Given the description of an element on the screen output the (x, y) to click on. 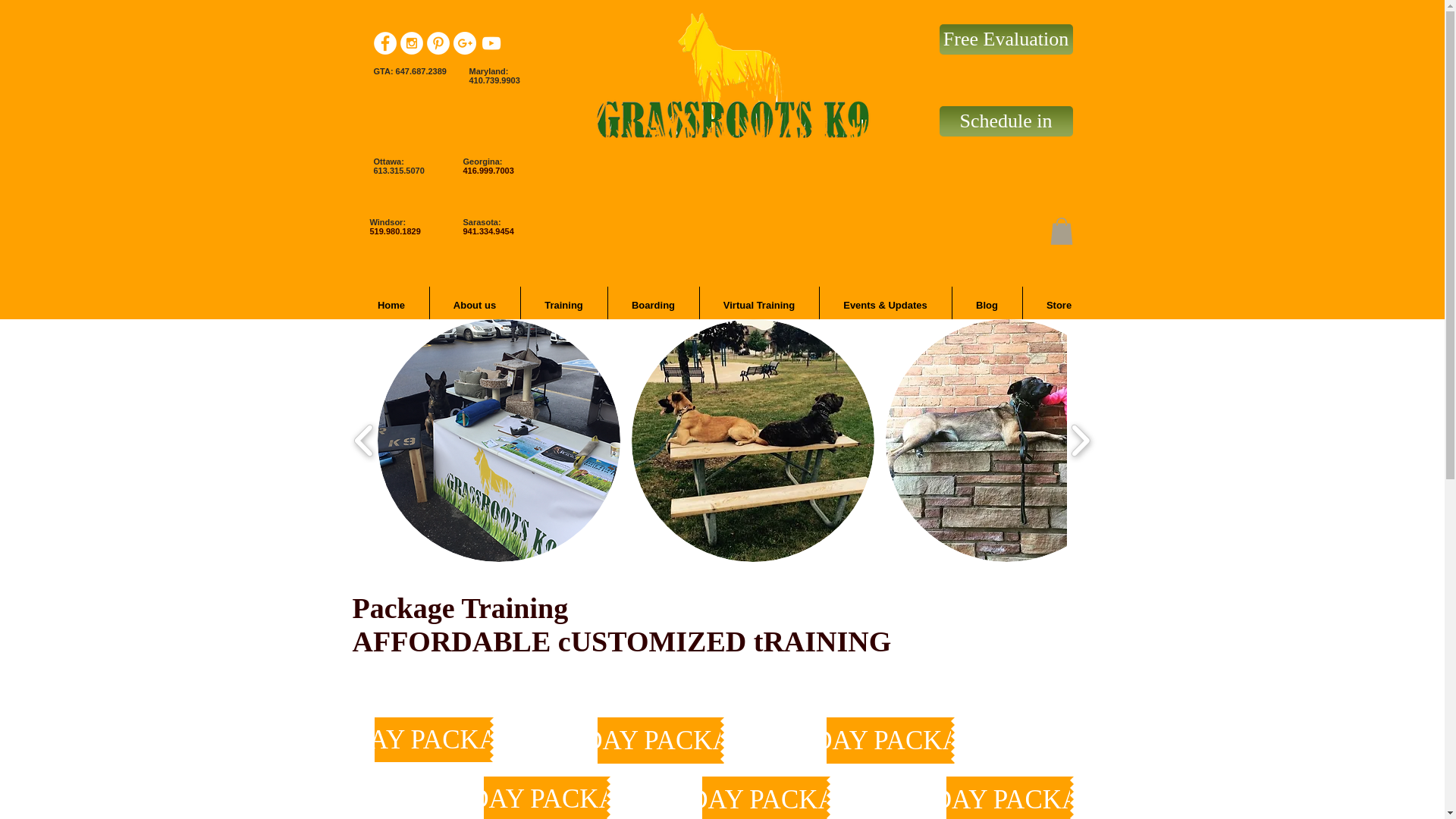
Schedule in (1005, 121)
Home (390, 305)
60 DAY PACKAGE (1008, 797)
20 DAY PACKAGE (764, 797)
10 DAY PACKAGE (545, 797)
Virtual Training (758, 305)
30 DAY PACKAGE (888, 740)
Store (1058, 305)
Free Evaluation (1005, 39)
Boarding (653, 305)
